Given the description of an element on the screen output the (x, y) to click on. 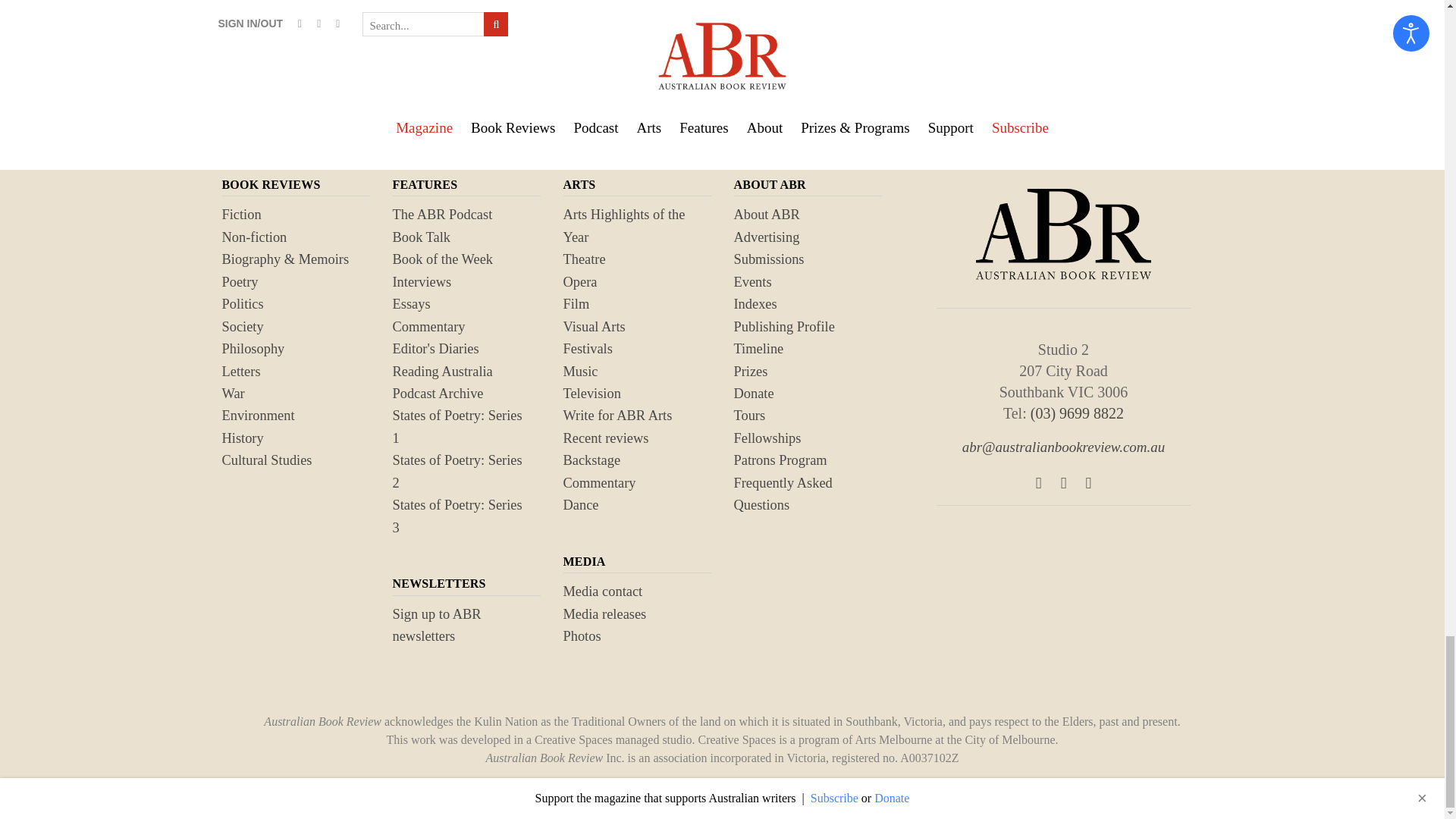
Submit comment (300, 15)
